Given the description of an element on the screen output the (x, y) to click on. 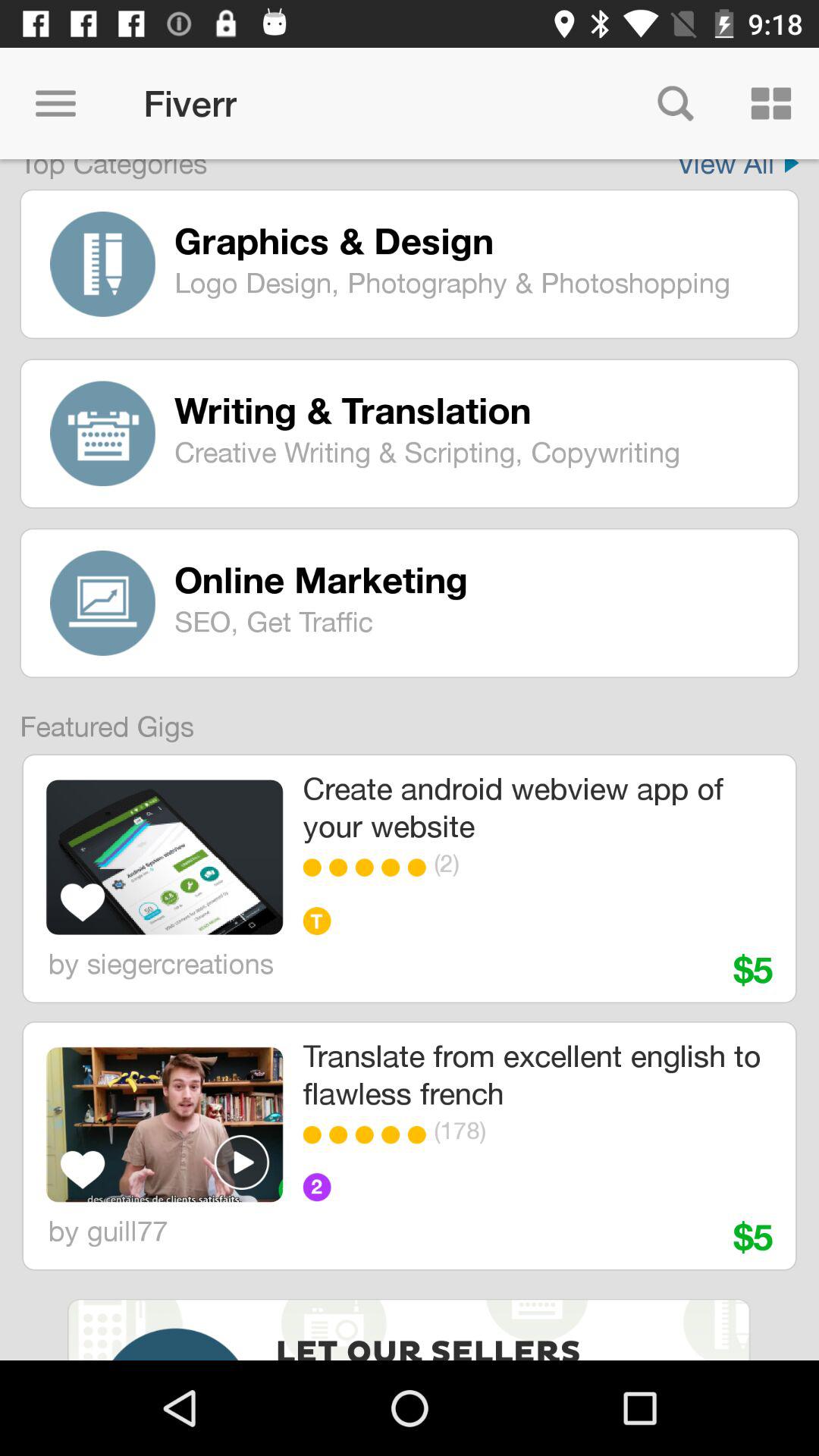
play this video (242, 1161)
